Given the description of an element on the screen output the (x, y) to click on. 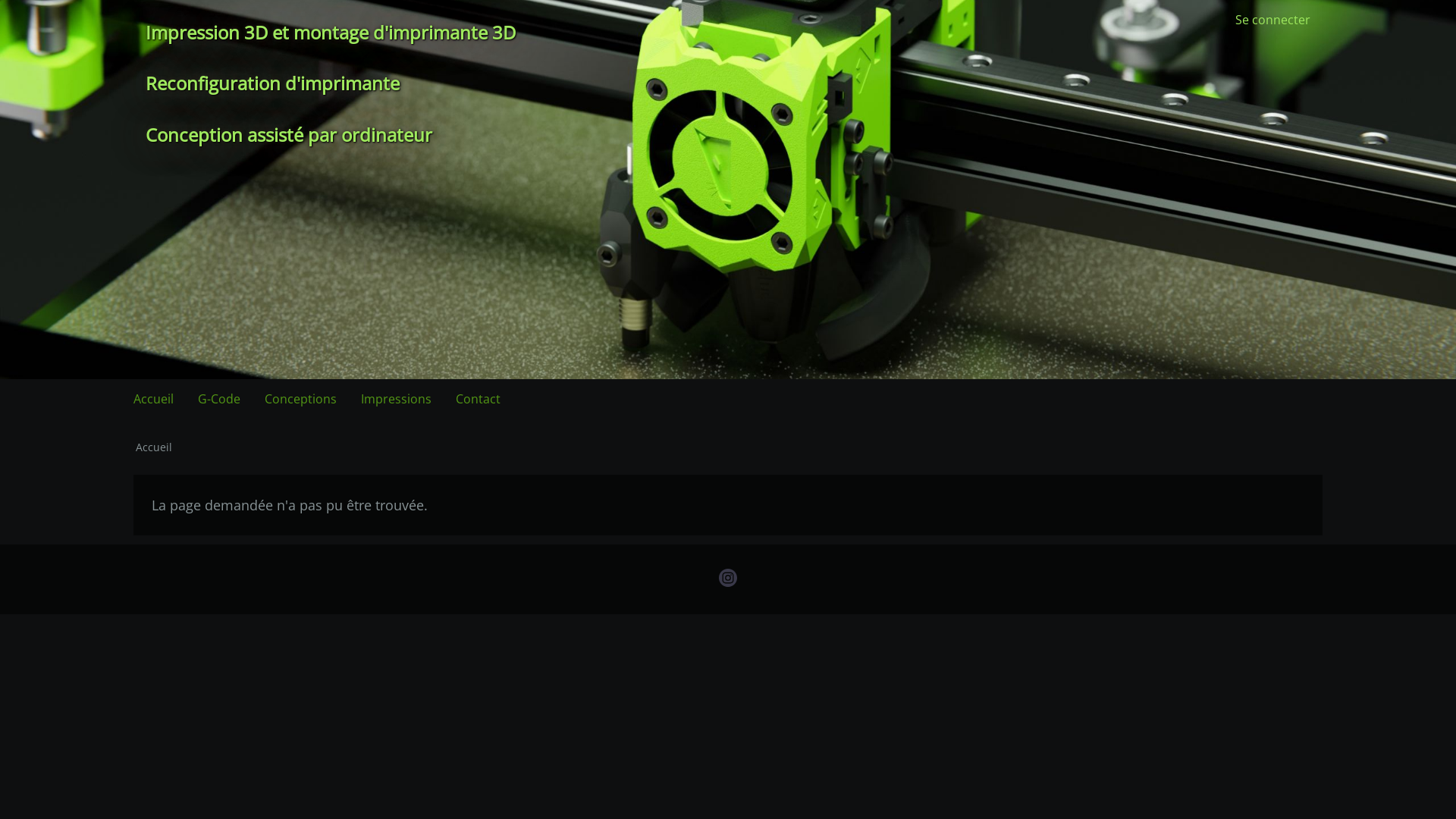
Contact Element type: text (477, 399)
G-Code Element type: text (218, 399)
Instagram Element type: hover (727, 579)
Impressions Element type: text (395, 399)
Se connecter Element type: text (1272, 20)
Aller au contenu principal Element type: text (0, 0)
Accueil Element type: text (153, 446)
Conceptions Element type: text (300, 399)
Accueil Element type: text (153, 399)
